Given the description of an element on the screen output the (x, y) to click on. 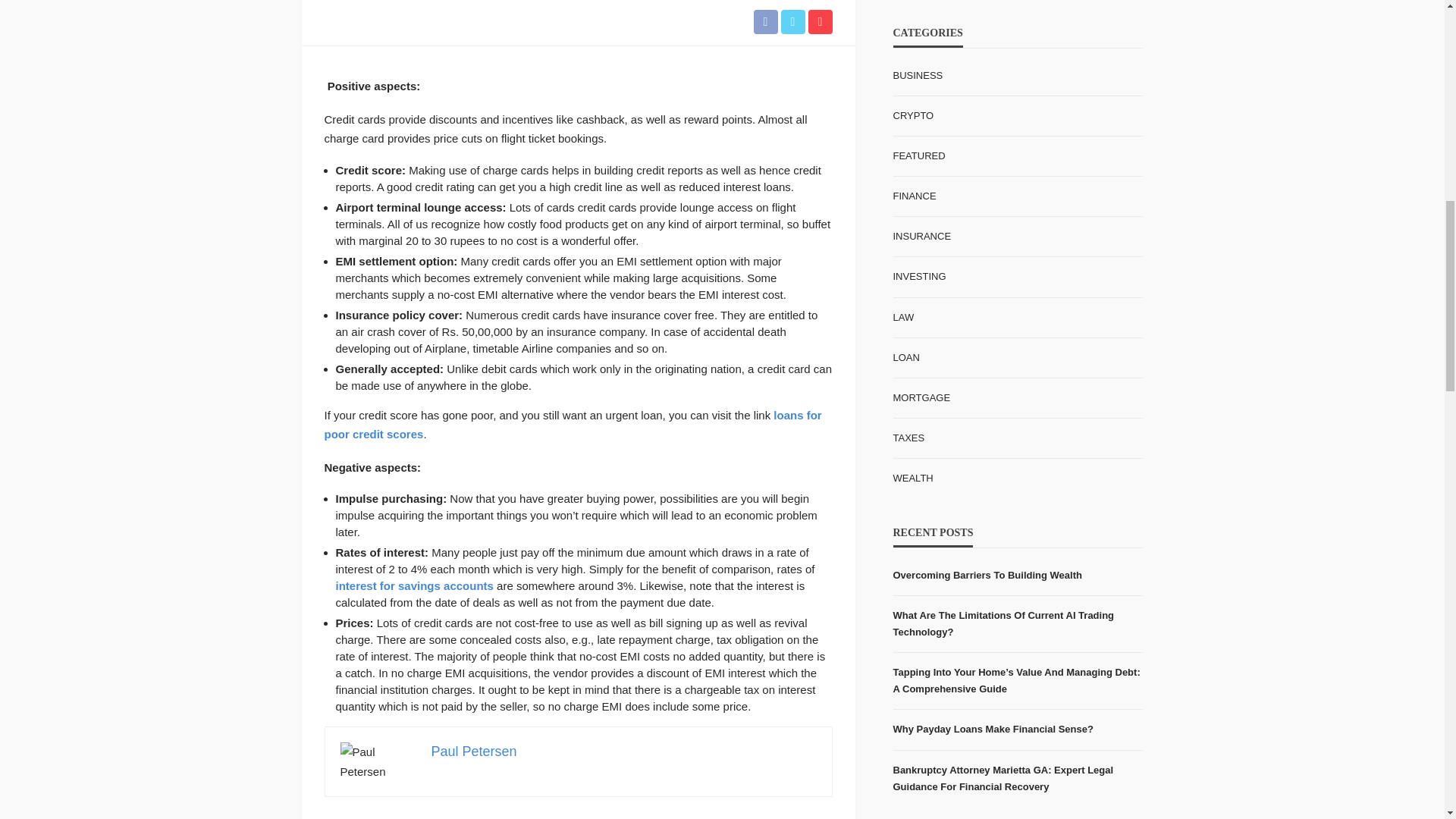
Paul Petersen (473, 751)
loans for poor credit scores (573, 424)
interest for savings accounts (413, 585)
